Given the description of an element on the screen output the (x, y) to click on. 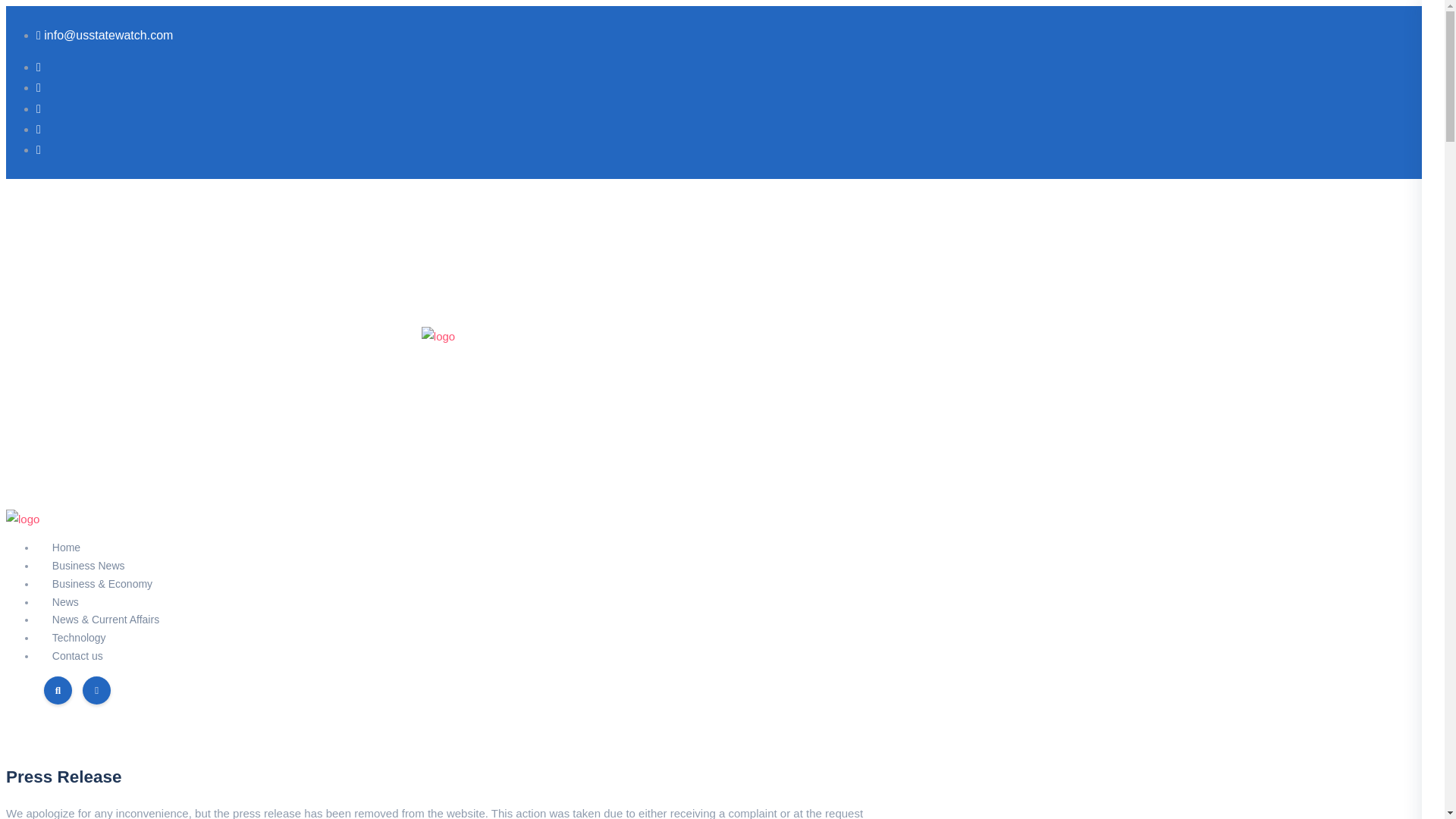
Business News (87, 565)
symbol info TradingView widget (437, 427)
Technology (78, 637)
Contact us (77, 655)
News (65, 600)
mini symbol-overview TradingView widget (437, 245)
Home (66, 547)
